Given the description of an element on the screen output the (x, y) to click on. 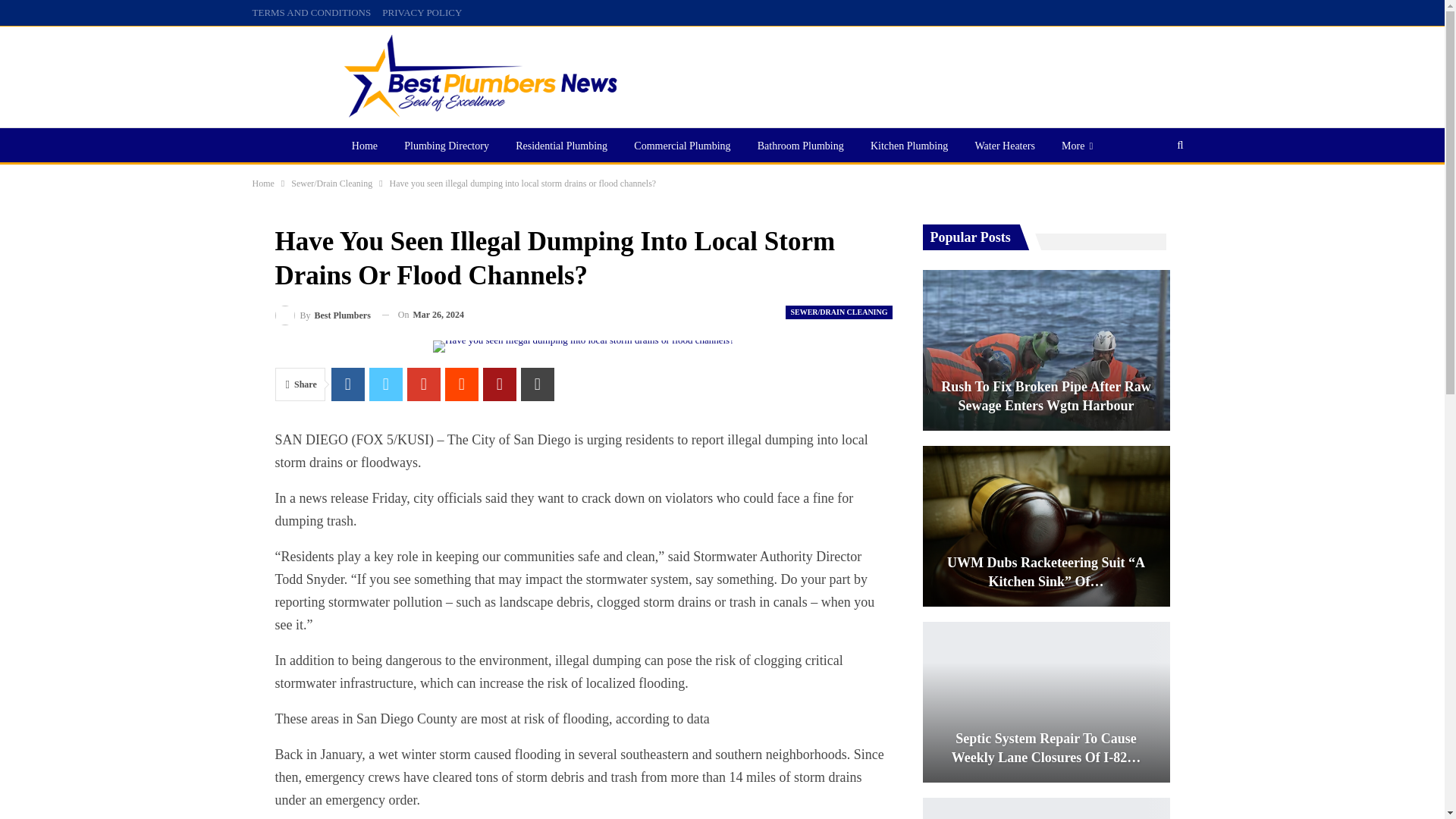
Residential Plumbing (560, 145)
Plumbing Directory (445, 145)
More (1077, 145)
PRIVACY POLICY (421, 12)
TERMS AND CONDITIONS (311, 12)
Browse Author Articles (322, 314)
Water Heaters (1004, 145)
Rush to fix broken pipe after raw sewage enters Wgtn Harbour (1045, 350)
By Best Plumbers (322, 314)
